Given the description of an element on the screen output the (x, y) to click on. 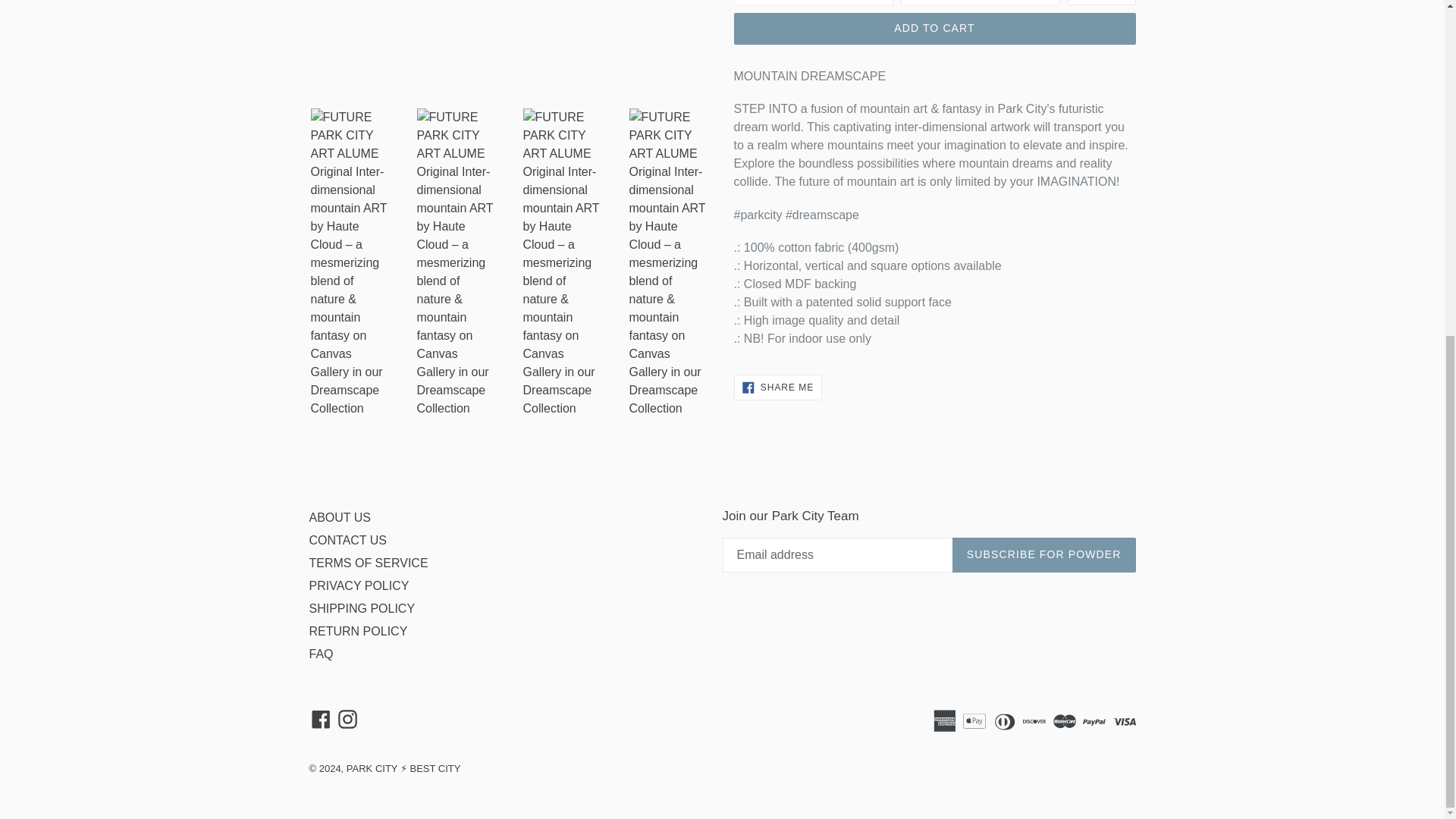
ABOUT US (339, 517)
ADD TO CART (934, 29)
Share on Facebook (777, 387)
1 (1101, 2)
CONTACT US (347, 540)
